Given the description of an element on the screen output the (x, y) to click on. 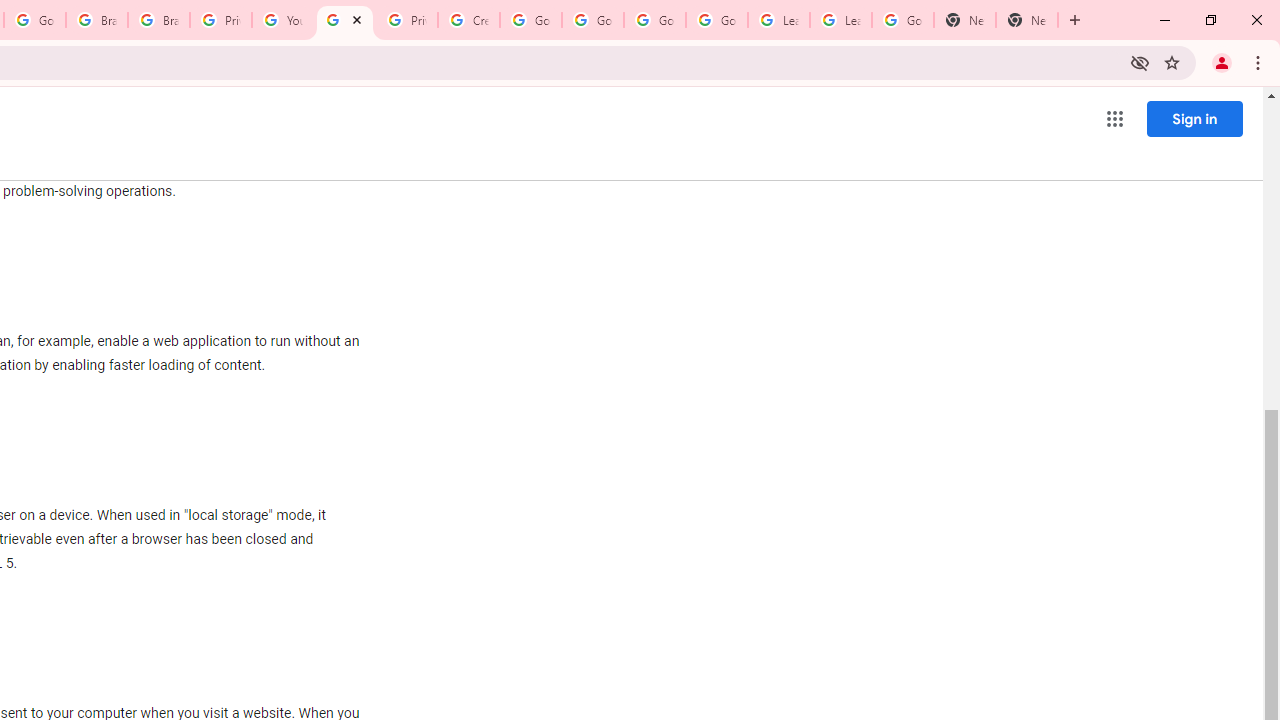
Create your Google Account (468, 20)
Google Account Help (530, 20)
YouTube (282, 20)
Google Account Help (654, 20)
New Tab (964, 20)
